Given the description of an element on the screen output the (x, y) to click on. 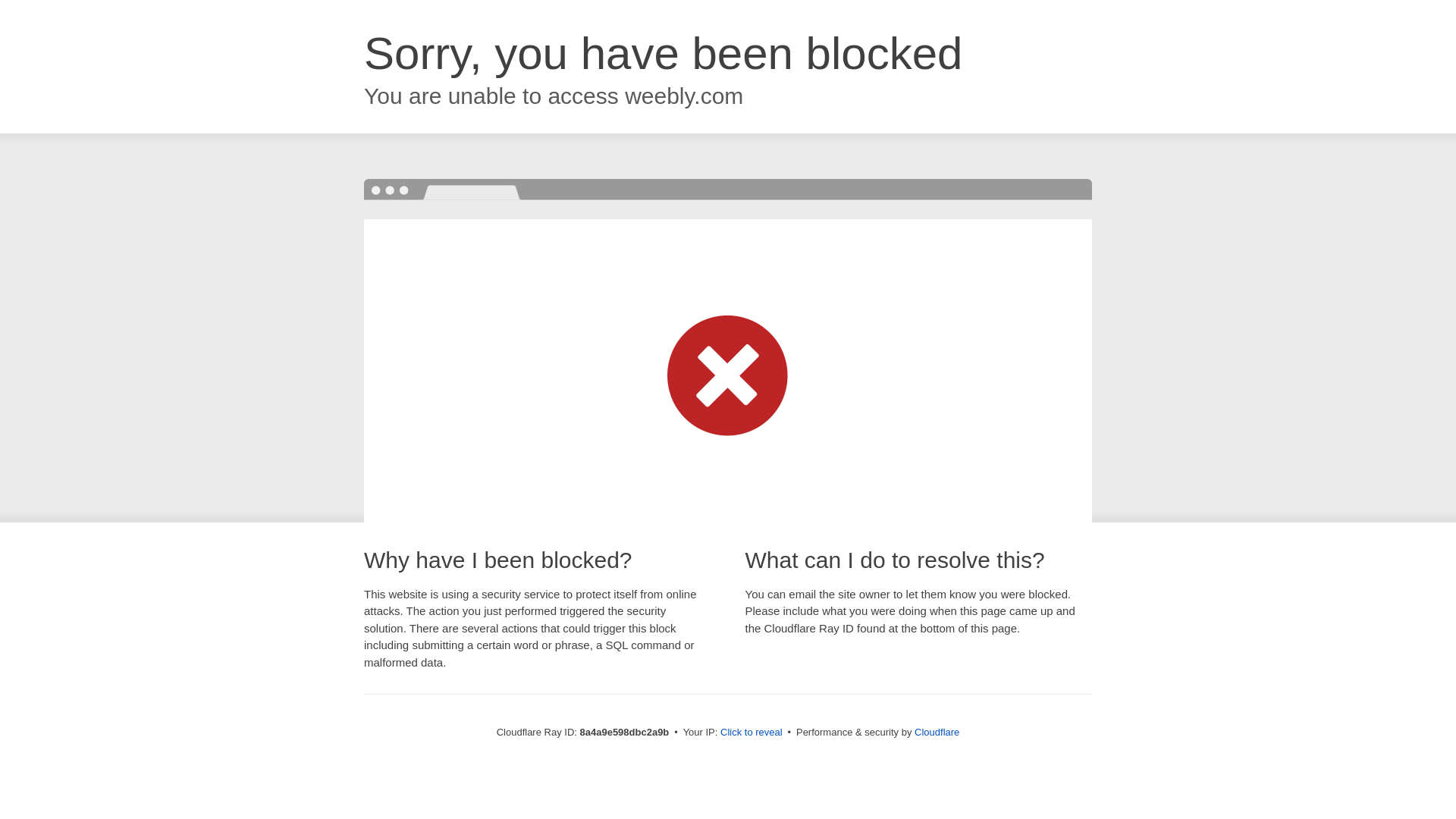
Click to reveal (751, 732)
Cloudflare (936, 731)
